Given the description of an element on the screen output the (x, y) to click on. 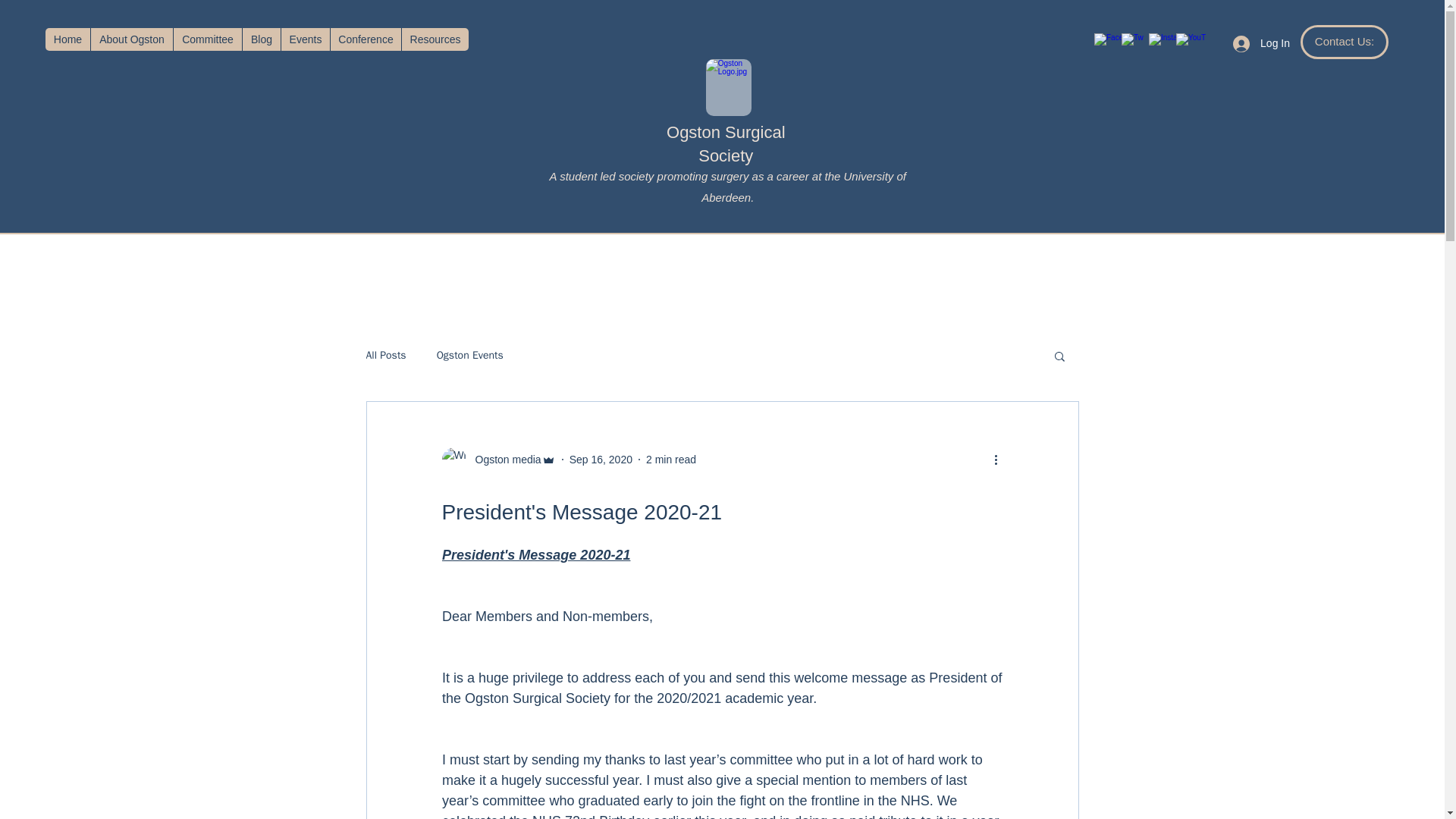
Log In (1261, 43)
Ogston Surgical Society (726, 143)
2 min read (670, 459)
Ogston media (502, 459)
Events (305, 38)
About Ogston (131, 38)
Ogston Events (469, 355)
Blog (261, 38)
Ogston media (497, 459)
Home (67, 38)
